Given the description of an element on the screen output the (x, y) to click on. 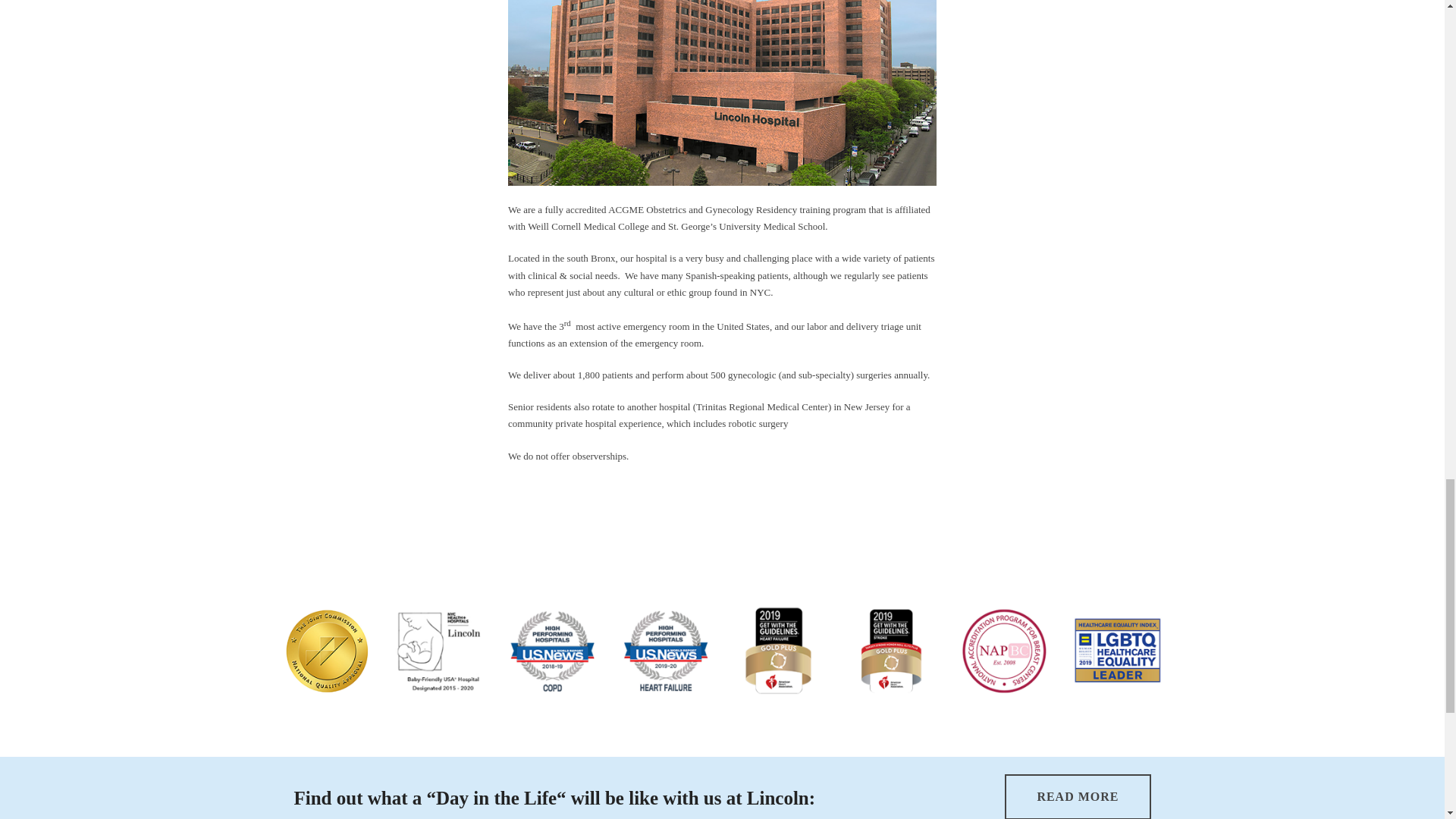
Accredited Perinatal Center, The Joint Commission (327, 651)
Accredited Breast Center (1004, 651)
READ MORE (1077, 796)
Baby Friendly Hospital (439, 651)
Gold Plus: Heart Failure American Heart Association (778, 651)
LGBTQ Healthcare Equality (1116, 651)
Gold Plus: Stroke, American Heart Association (890, 651)
